Given the description of an element on the screen output the (x, y) to click on. 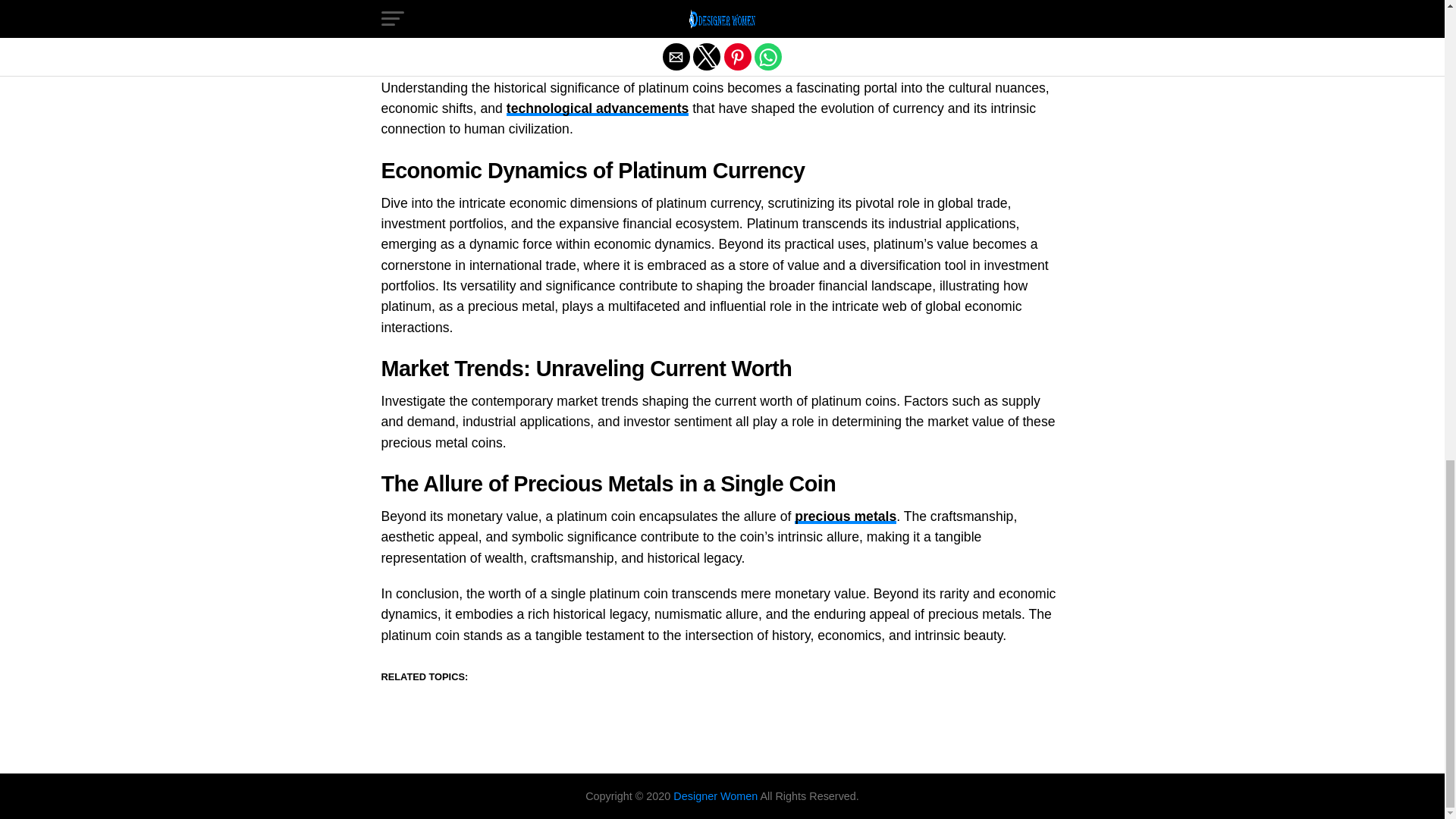
Designer Women (716, 796)
technological advancements (597, 108)
precious metals (845, 516)
